Given the description of an element on the screen output the (x, y) to click on. 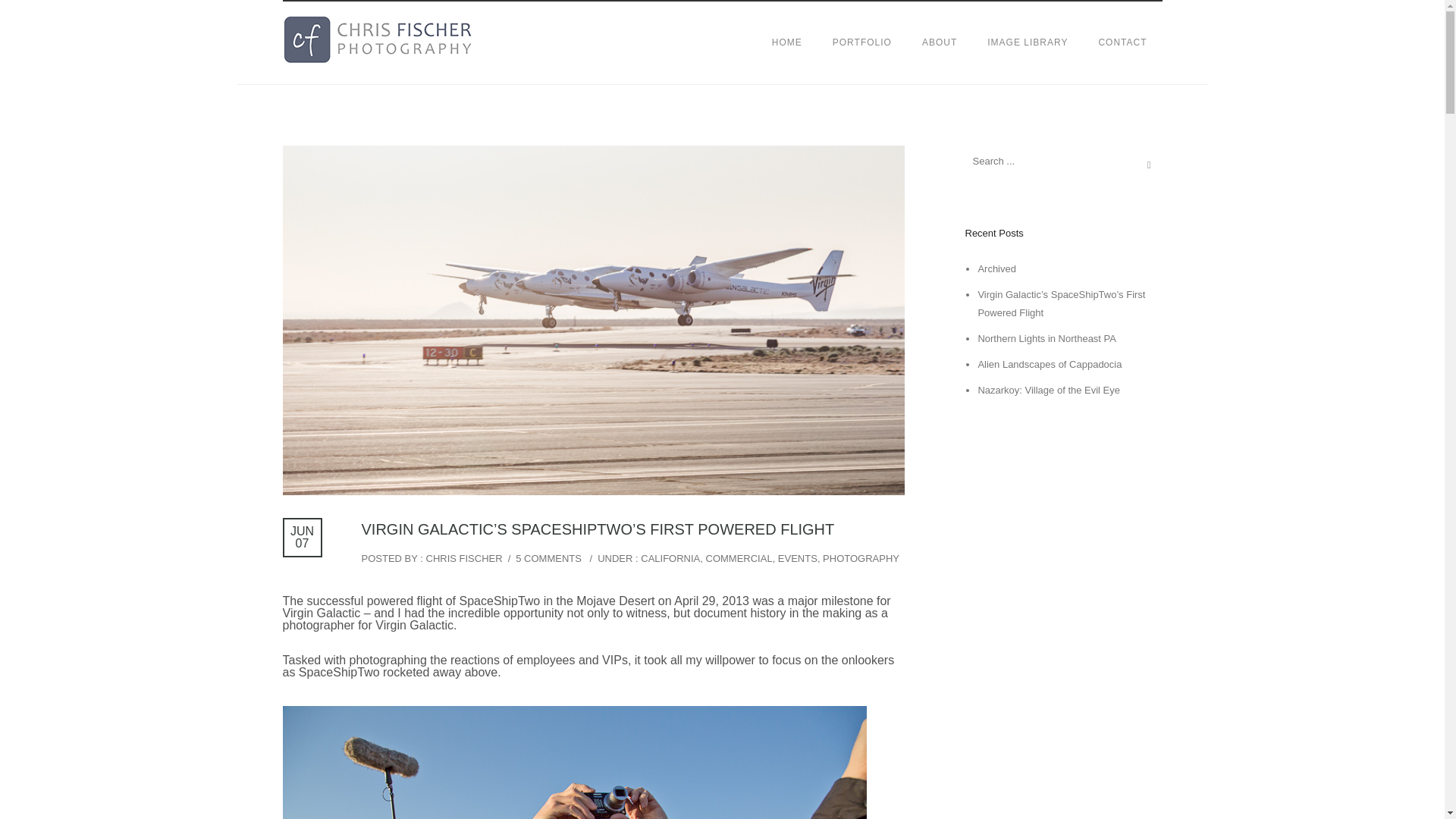
ABOUT (939, 41)
IMAGE LIBRARY (1027, 41)
HOME (786, 41)
Northern Lights in Northeast PA (1046, 337)
COMMERCIAL (737, 558)
5 COMMENTS (547, 558)
CONTACT (1122, 41)
Contact (1122, 41)
Alien Landscapes of Cappadocia (1048, 364)
PHOTOGRAPHY (860, 558)
About (939, 41)
Portfolio (861, 41)
Image Library (1027, 41)
Home (786, 41)
EVENTS (796, 558)
